Given the description of an element on the screen output the (x, y) to click on. 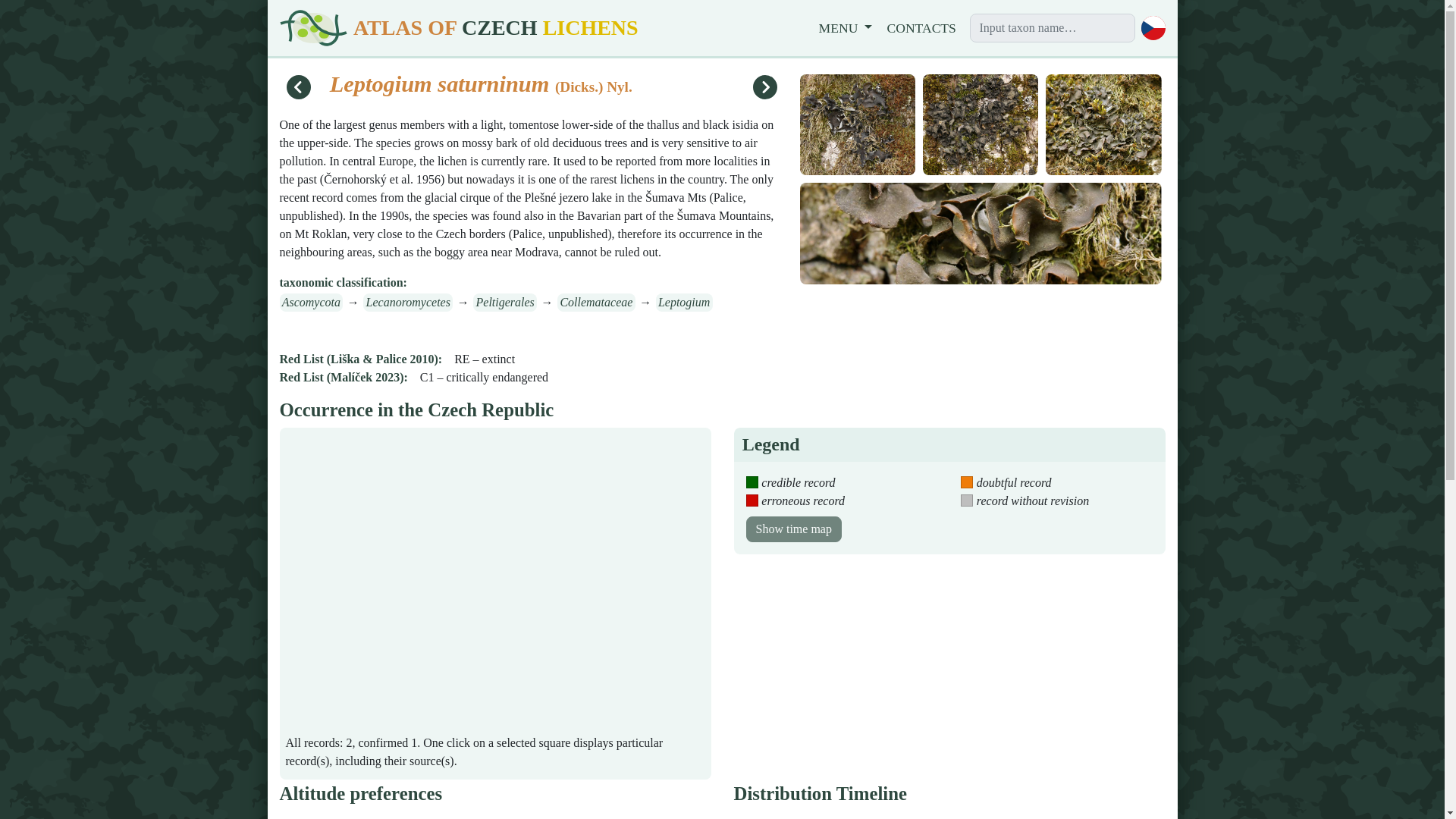
MENU (845, 27)
ATLAS OF CZECH LICHENS (461, 27)
Ascomycota (310, 302)
Collemataceae (595, 302)
Show time map (793, 529)
CONTACTS (921, 27)
Lecanoromycetes (407, 302)
Leptogium (684, 302)
Peltigerales (505, 302)
